Given the description of an element on the screen output the (x, y) to click on. 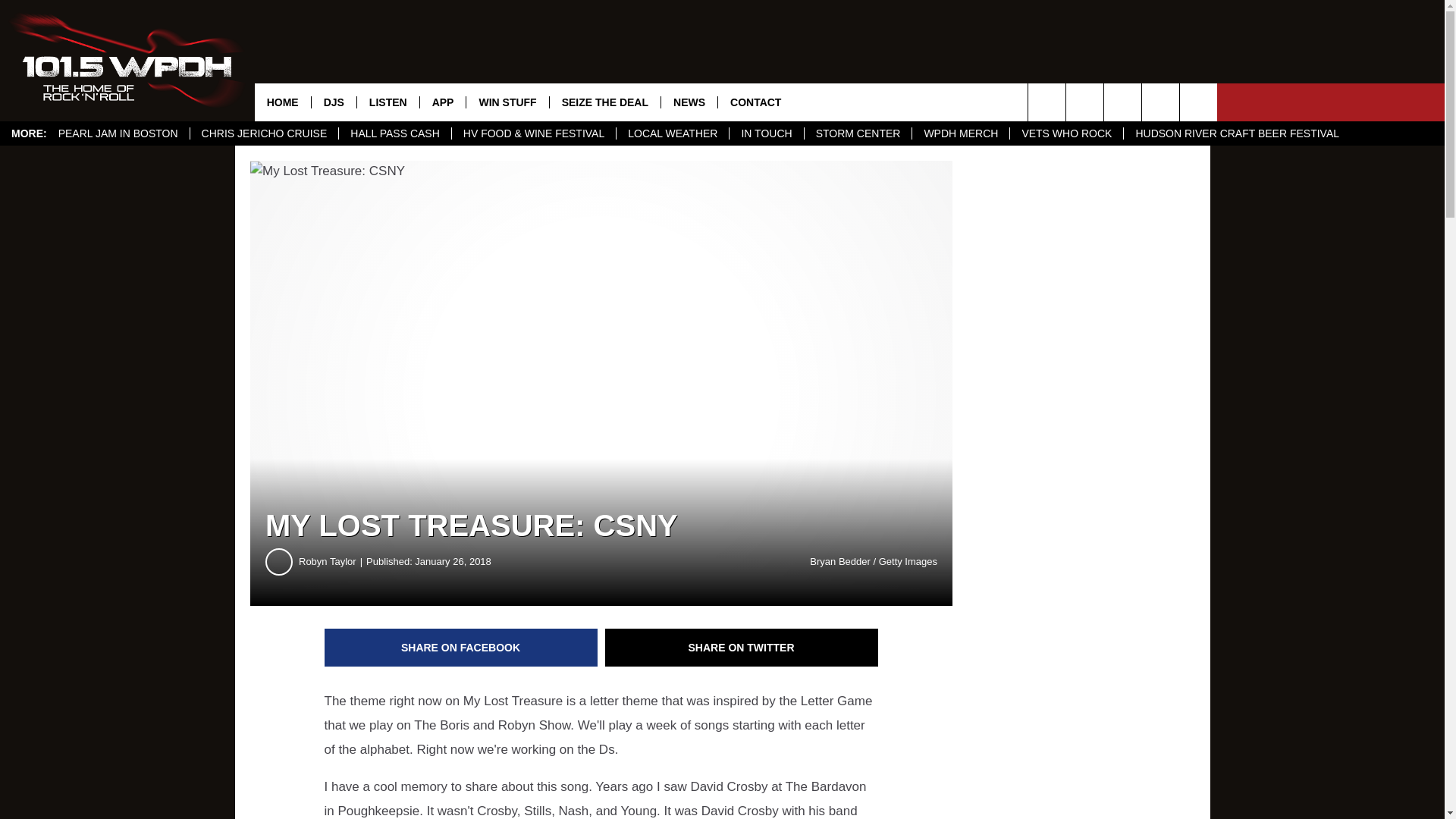
HUDSON RIVER CRAFT BEER FESTIVAL (1236, 133)
SEIZE THE DEAL (604, 102)
IN TOUCH (766, 133)
STORM CENTER (857, 133)
NEWS (689, 102)
WPDH MERCH (960, 133)
HOME (282, 102)
PEARL JAM IN BOSTON (117, 133)
CHRIS JERICHO CRUISE (264, 133)
Share on Twitter (741, 647)
